Given the description of an element on the screen output the (x, y) to click on. 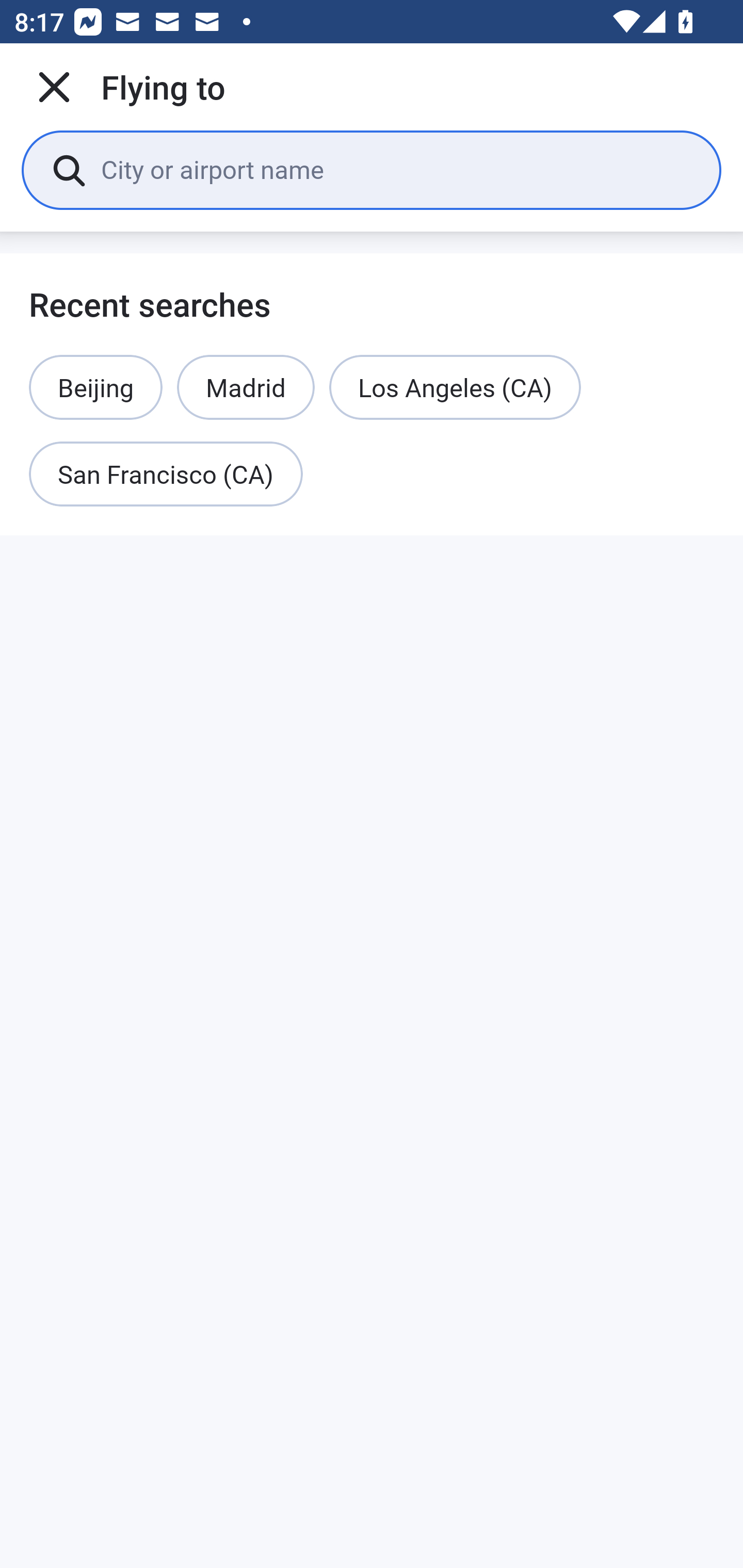
City or airport name (396, 169)
Beijing (95, 387)
Madrid (245, 387)
Los Angeles (CA) (455, 387)
San Francisco (CA) (165, 474)
